Given the description of an element on the screen output the (x, y) to click on. 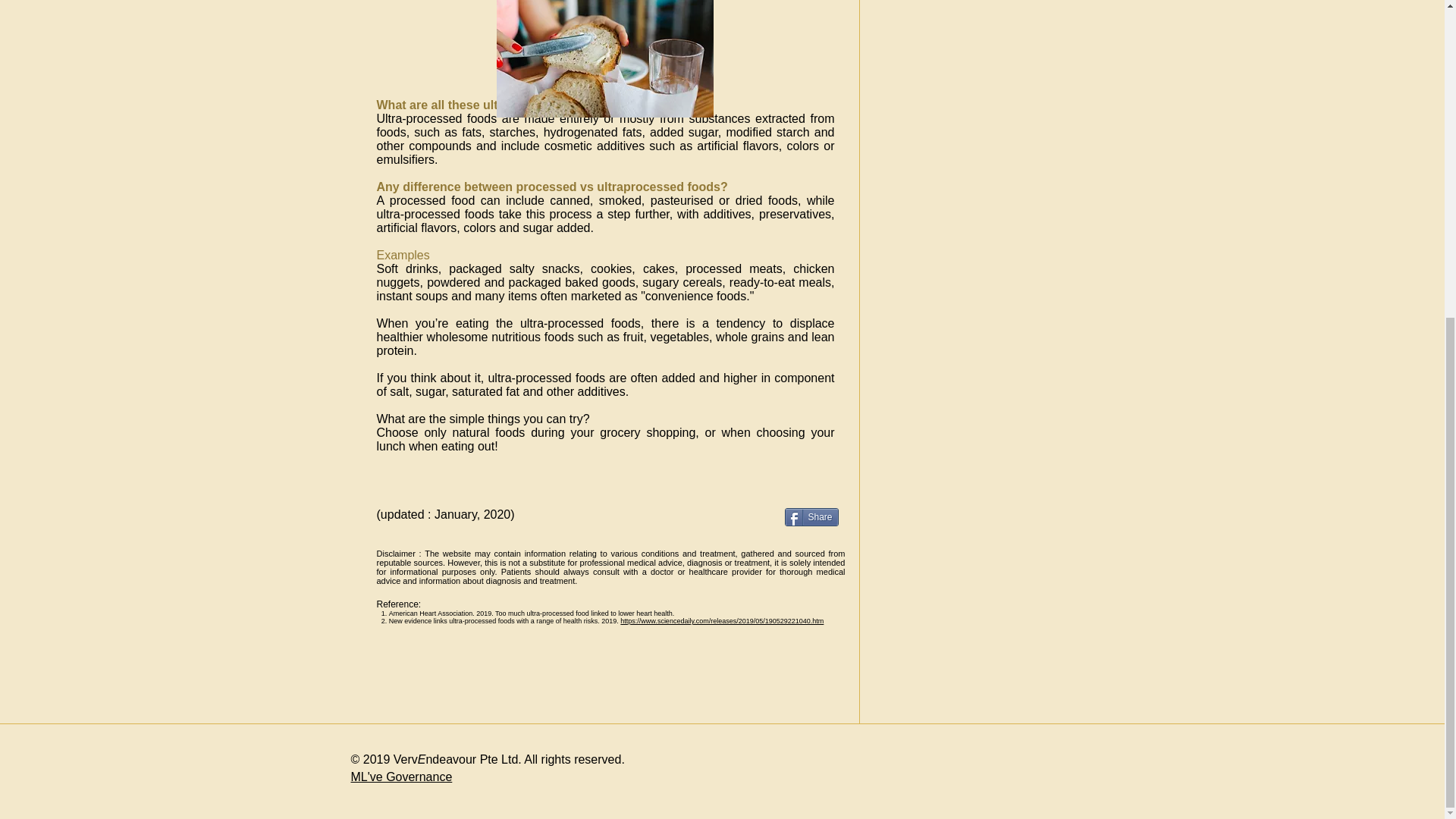
Share (811, 516)
ML've Governance (400, 776)
Share (811, 516)
